Given the description of an element on the screen output the (x, y) to click on. 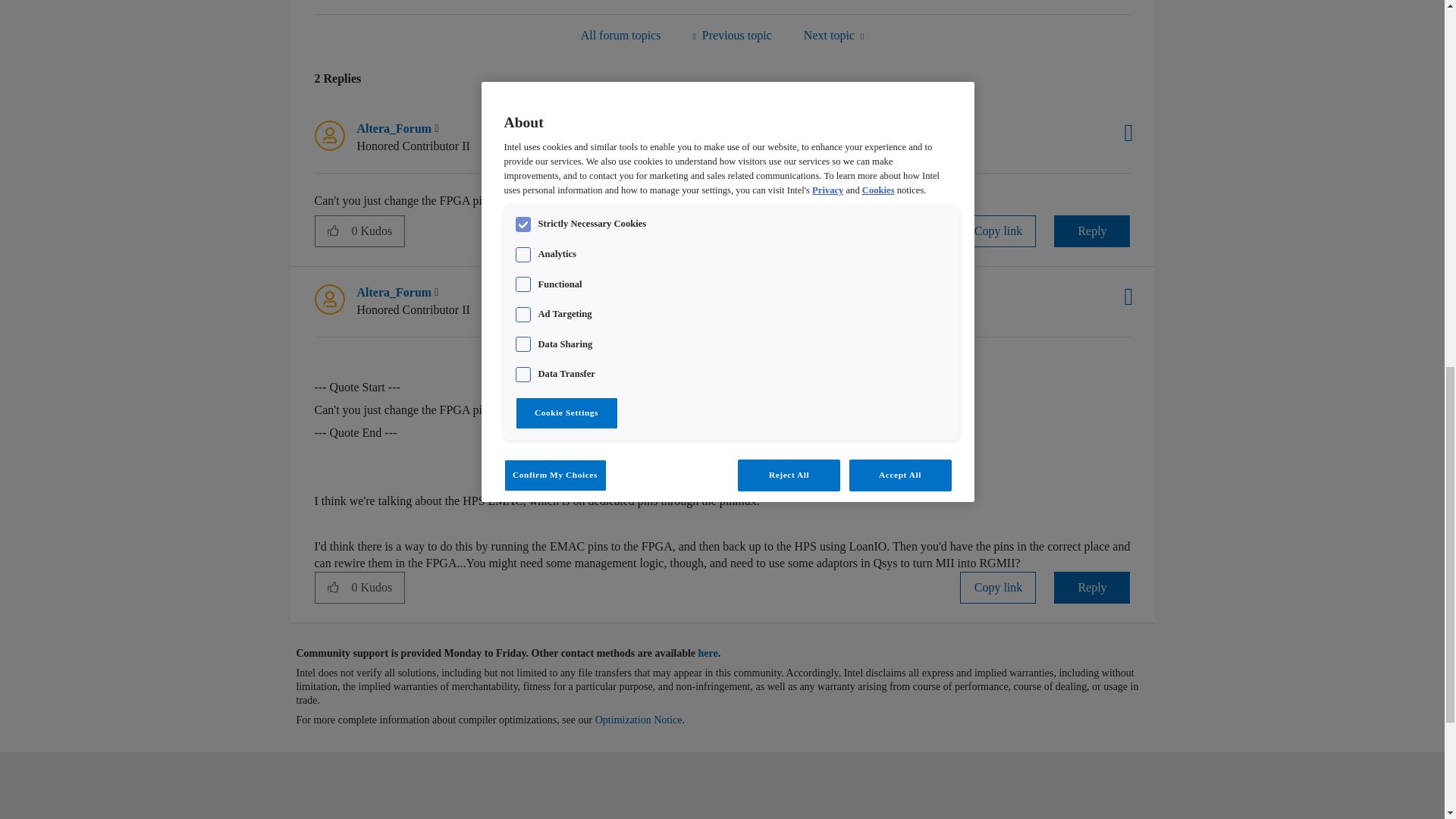
Reconfigure FPGA from USB-Blaster on a running HPS system (731, 34)
Posted on (557, 137)
The total number of kudos this post has received. (377, 231)
